Given the description of an element on the screen output the (x, y) to click on. 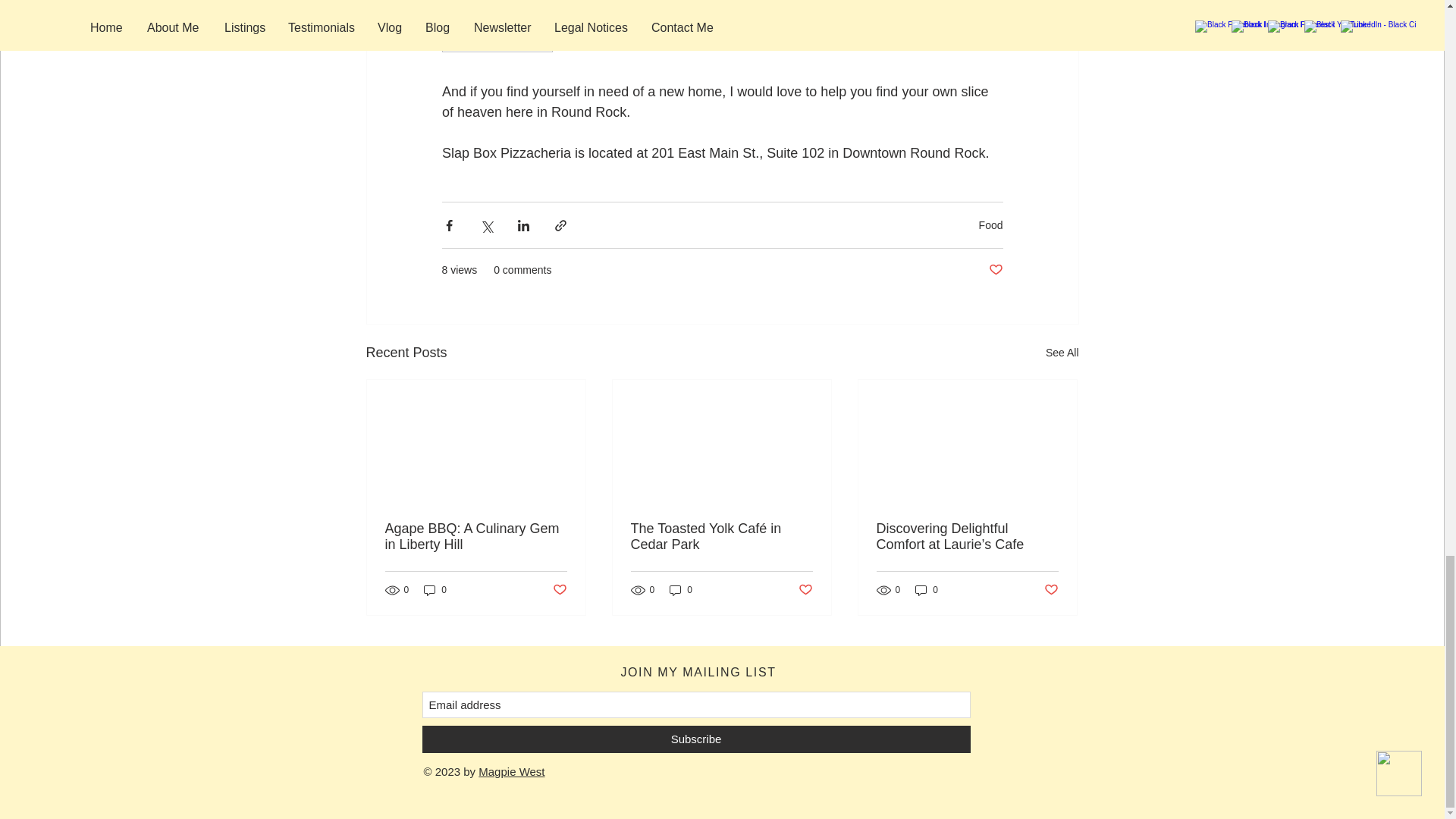
Agape BBQ: A Culinary Gem in Liberty Hill (476, 536)
See All (1061, 352)
0 (926, 590)
Food (990, 224)
Post not marked as liked (995, 270)
Post not marked as liked (558, 589)
Post not marked as liked (804, 589)
0 (435, 590)
0 (681, 590)
